Given the description of an element on the screen output the (x, y) to click on. 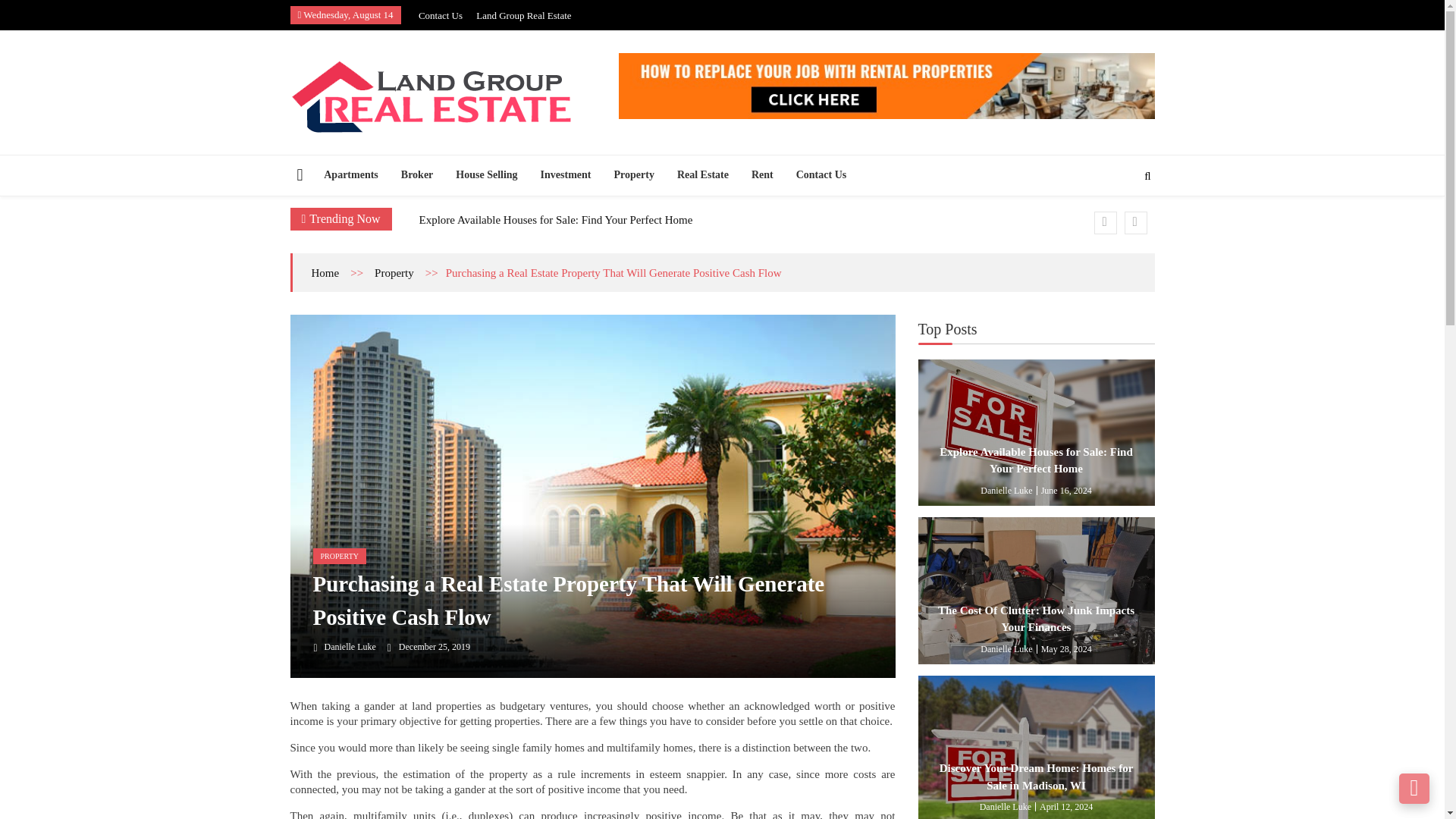
Real Estate (702, 173)
Discover Your Dream Home: Homes for Sale in Madison, WI (1035, 747)
Broker (417, 173)
House Selling (486, 173)
The Cost Of Clutter: How Junk Impacts Your Finances (1035, 590)
Apartments (351, 173)
Explore Available Houses for Sale: Find Your Perfect Home (556, 219)
Property (633, 173)
Search (1122, 222)
Rent (761, 173)
